Given the description of an element on the screen output the (x, y) to click on. 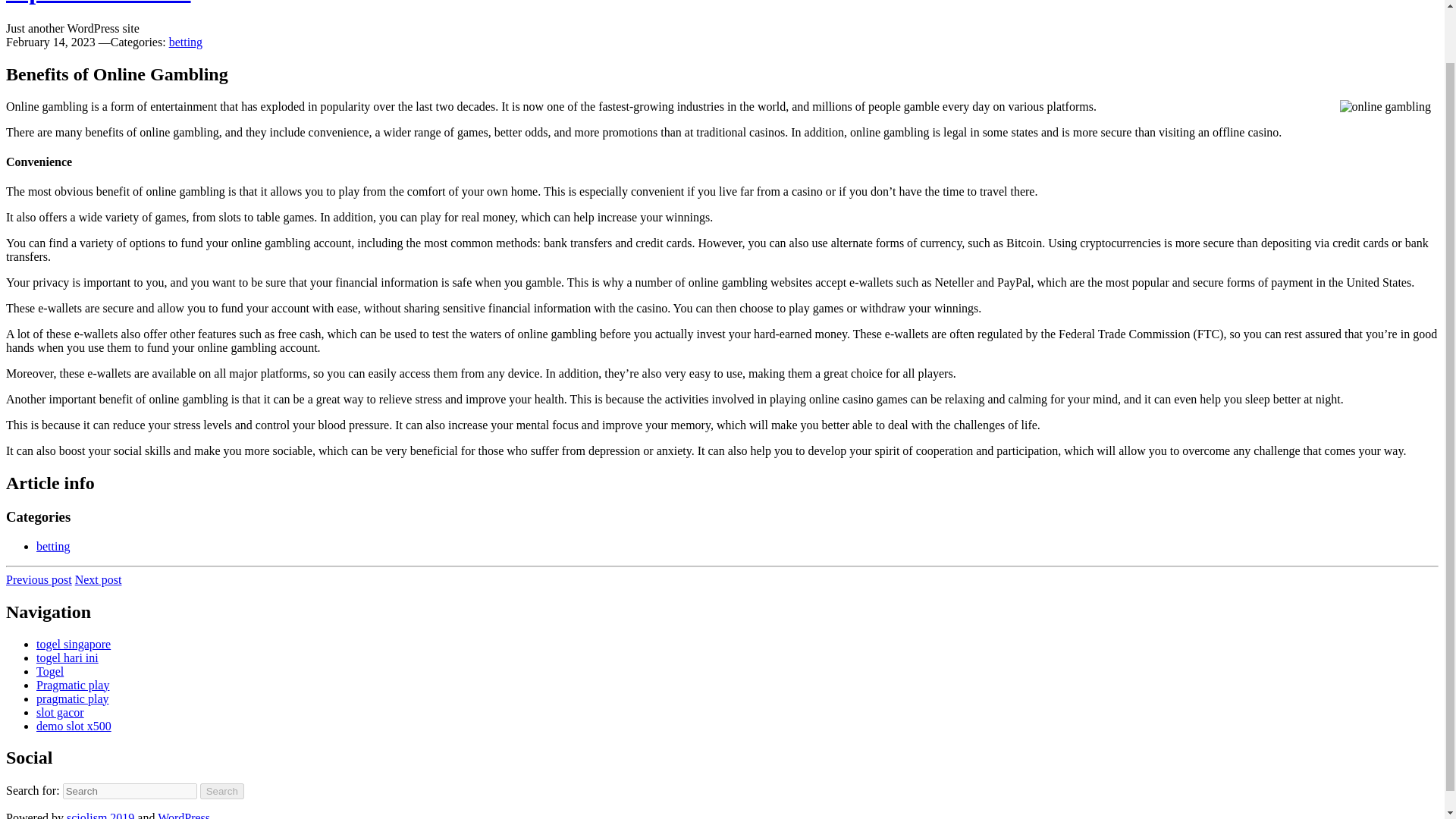
togel hari ini (67, 657)
arpaintsandcrafts (97, 2)
Search (222, 790)
Pragmatic play (72, 684)
Next post (98, 579)
betting (52, 545)
Previous post (38, 579)
Search (222, 790)
togel singapore (73, 644)
demo slot x500 (74, 725)
Togel (50, 671)
slot gacor (60, 712)
betting (185, 42)
Search (222, 790)
pragmatic play (72, 698)
